Given the description of an element on the screen output the (x, y) to click on. 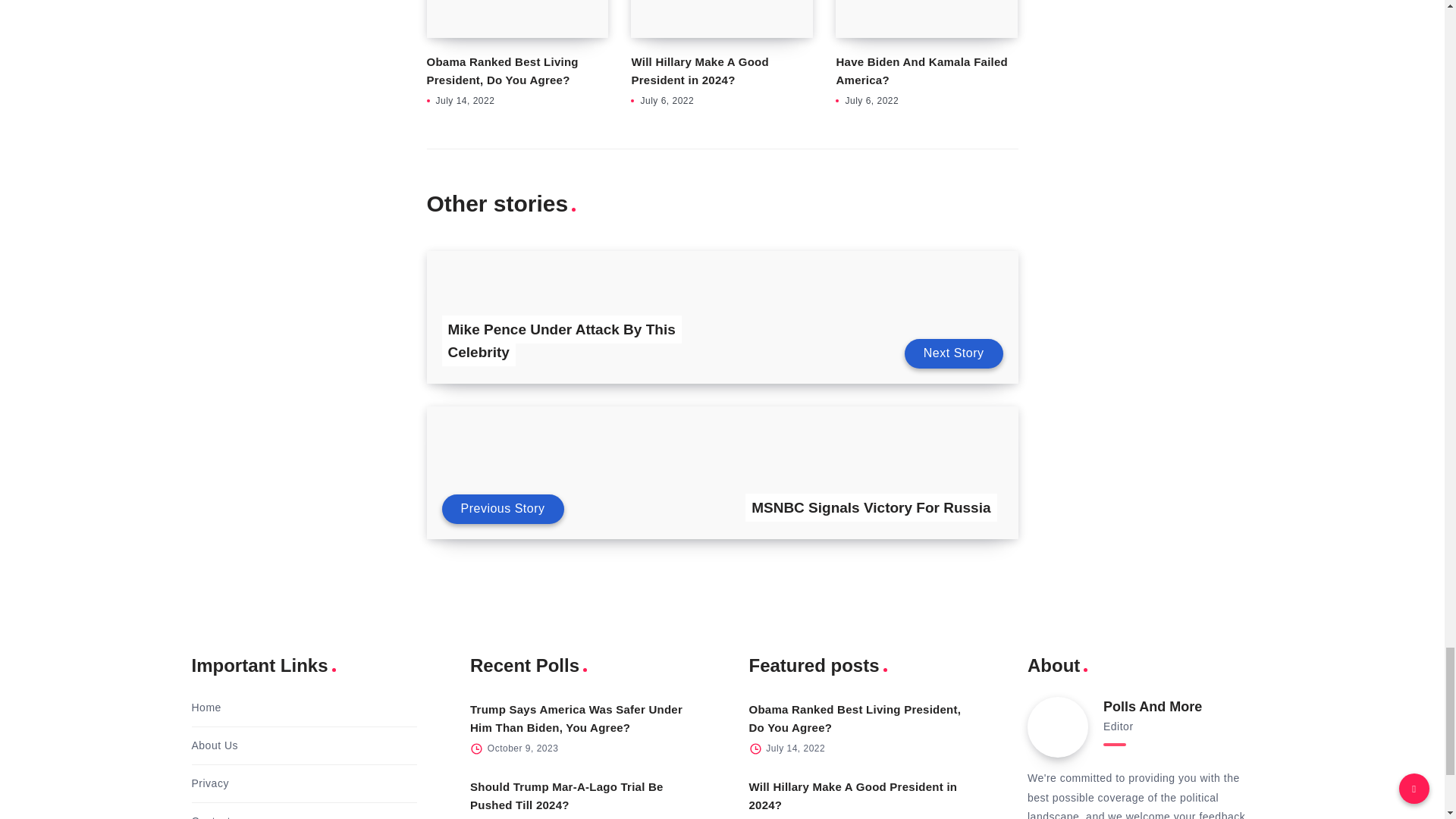
Will Hillary Make A Good President in 2024? (699, 70)
Should Trump Mar-A-Lago Trial Be Pushed Till 2024? (566, 795)
Obama Ranked Best Living President, Do You Agree? (854, 717)
Home (205, 707)
Privacy (209, 783)
Have Biden And Kamala Failed America? (921, 70)
Will Hillary Make A Good President in 2024? (853, 795)
Obama Ranked Best Living President, Do You Agree? (502, 70)
Contact (210, 815)
About Us (214, 745)
